Given the description of an element on the screen output the (x, y) to click on. 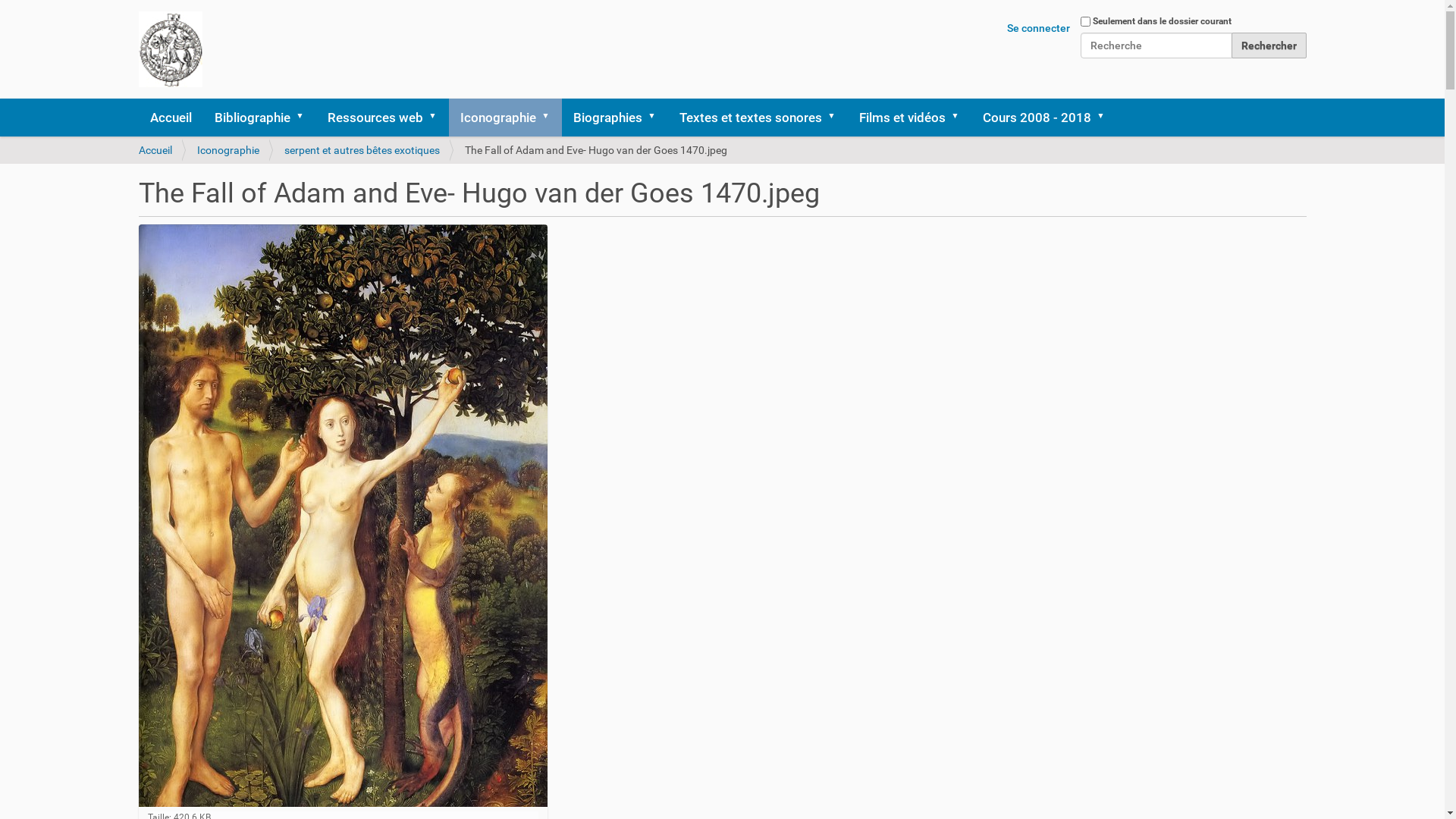
Bibliographie Element type: text (259, 117)
The Fall of Adam and Eve- Hugo van der Goes 1470.jpeg Element type: hover (342, 515)
Ressources web Element type: text (381, 117)
Recherche Element type: hover (1155, 45)
Biographies Element type: text (614, 117)
Se connecter Element type: text (1038, 27)
Textes et textes sonores Element type: text (757, 117)
Accueil Element type: text (154, 150)
Rechercher Element type: text (1268, 45)
Site Element type: hover (169, 49)
Iconographie Element type: text (228, 150)
Iconographie Element type: text (504, 117)
Accueil Element type: text (170, 117)
Cours 2008 - 2018 Element type: text (1043, 117)
